Given the description of an element on the screen output the (x, y) to click on. 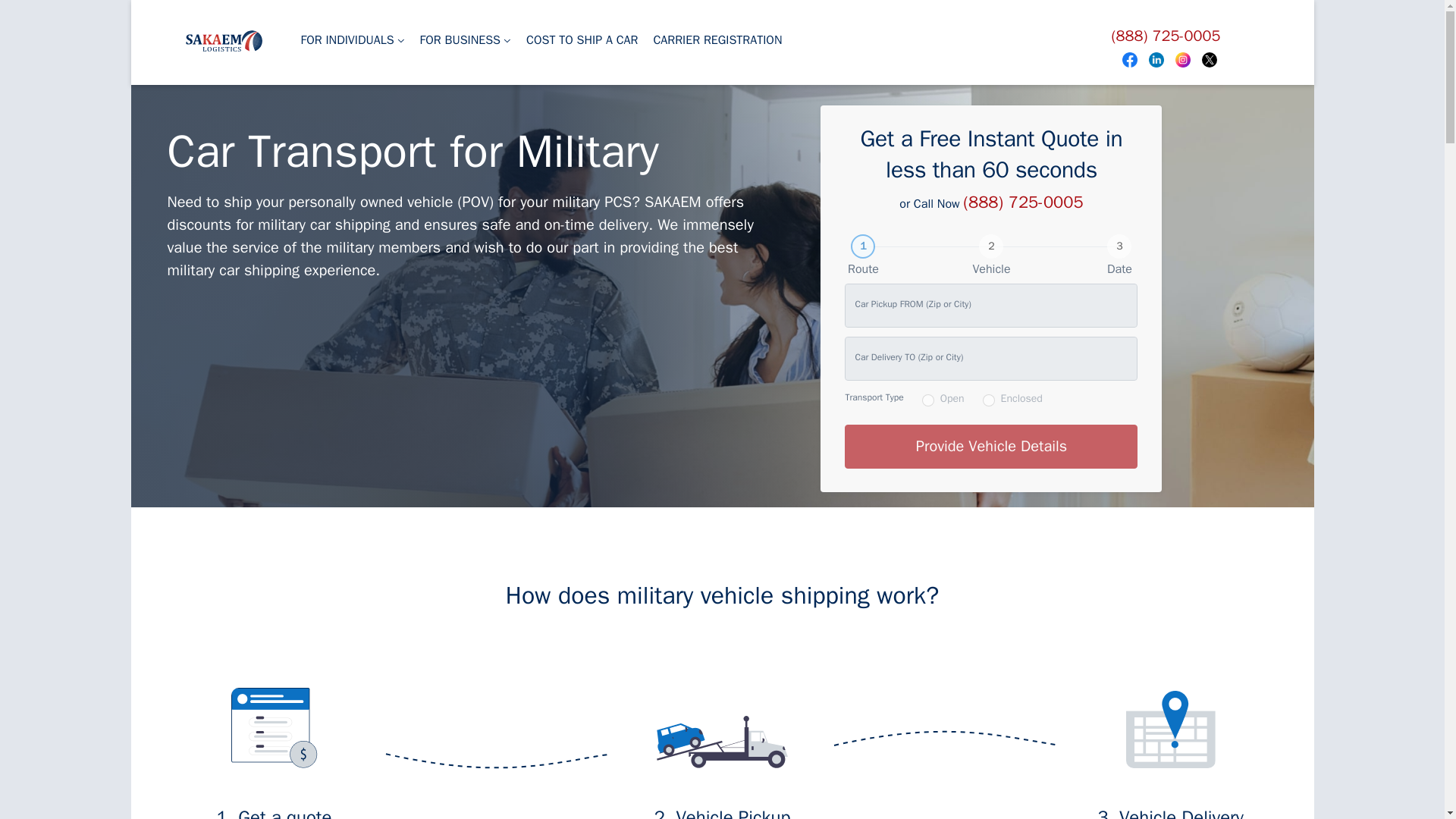
CARRIER REGISTRATION (717, 40)
FOR INDIVIDUALS (352, 40)
3 (1118, 246)
2 (990, 246)
Location (1169, 729)
Enclosed (988, 399)
FOR BUSINESS (465, 40)
Open (927, 399)
Quote-1 (273, 727)
1 (862, 246)
Provide Vehicle Details (990, 446)
COST TO SHIP A CAR (581, 40)
